Given the description of an element on the screen output the (x, y) to click on. 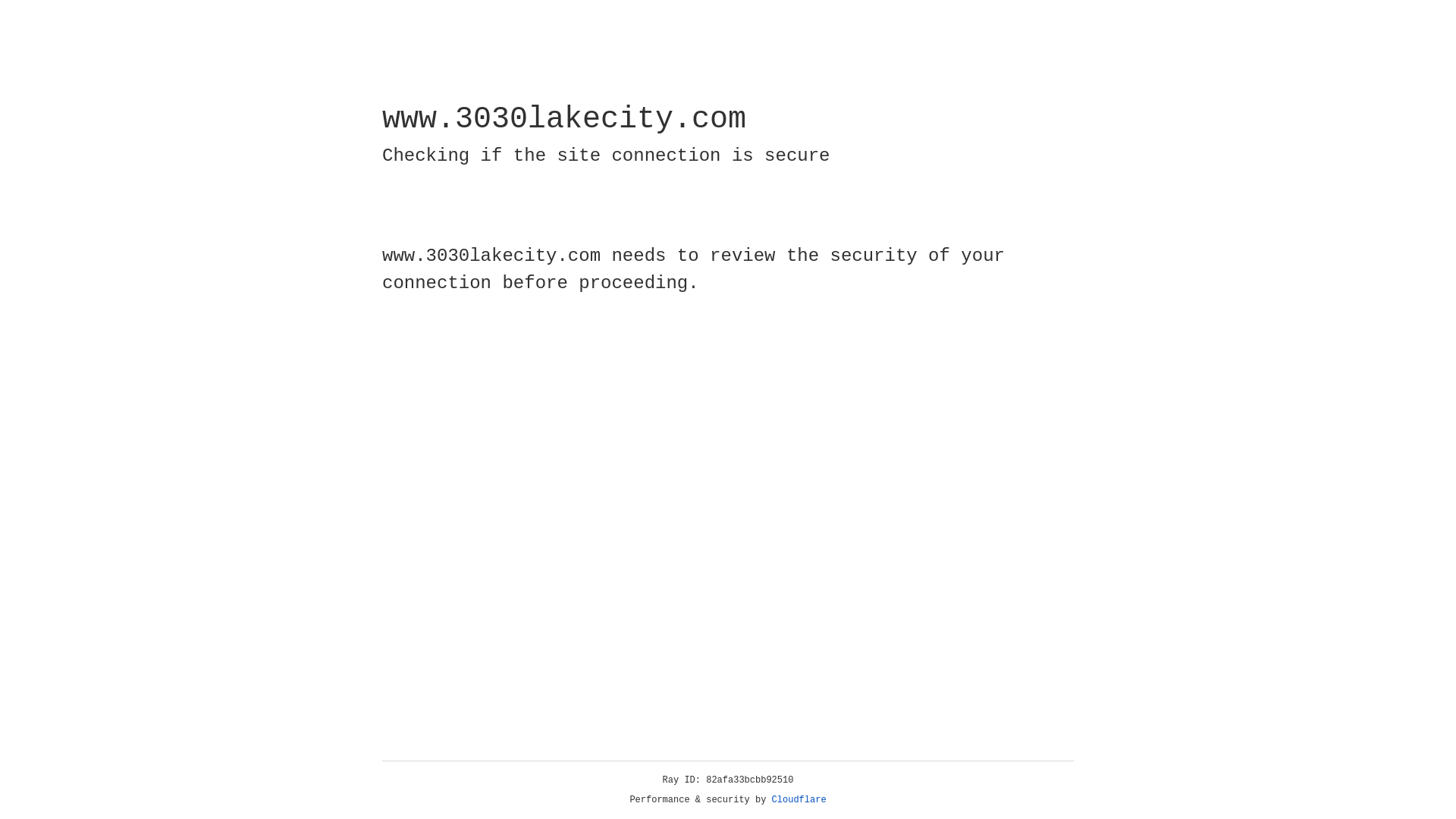
Cloudflare Element type: text (798, 799)
